Given the description of an element on the screen output the (x, y) to click on. 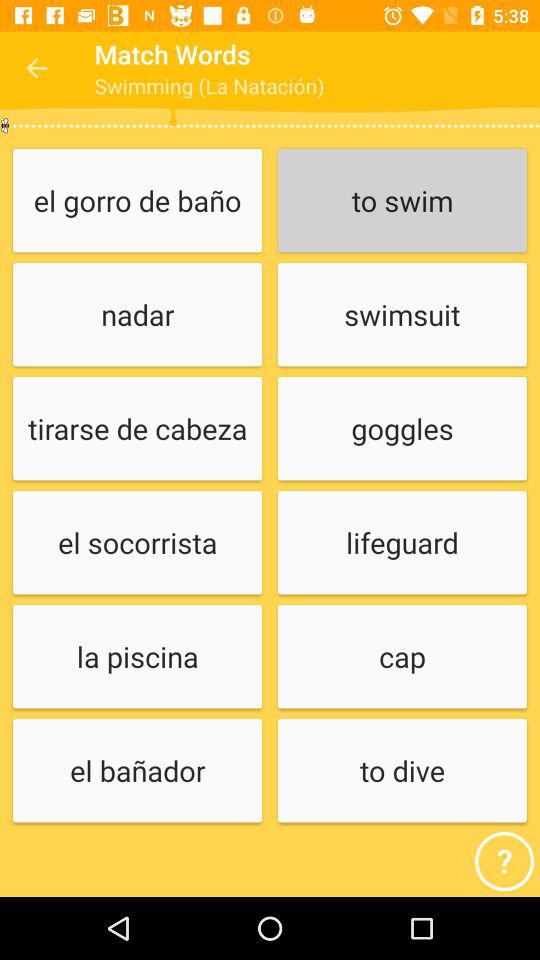
click icon above tirarse de cabeza (137, 315)
